Given the description of an element on the screen output the (x, y) to click on. 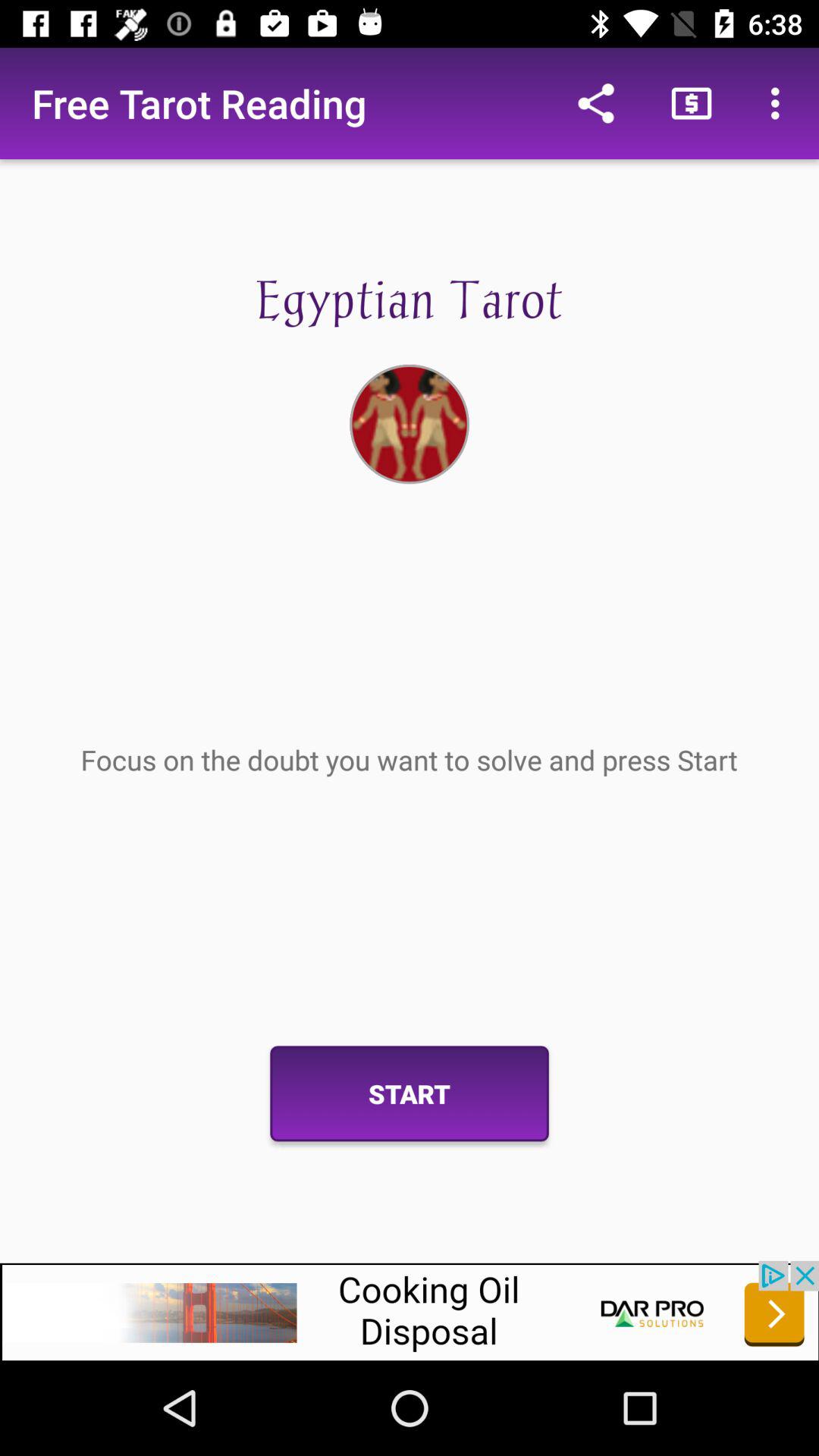
click on oil advertisement (409, 1310)
